Given the description of an element on the screen output the (x, y) to click on. 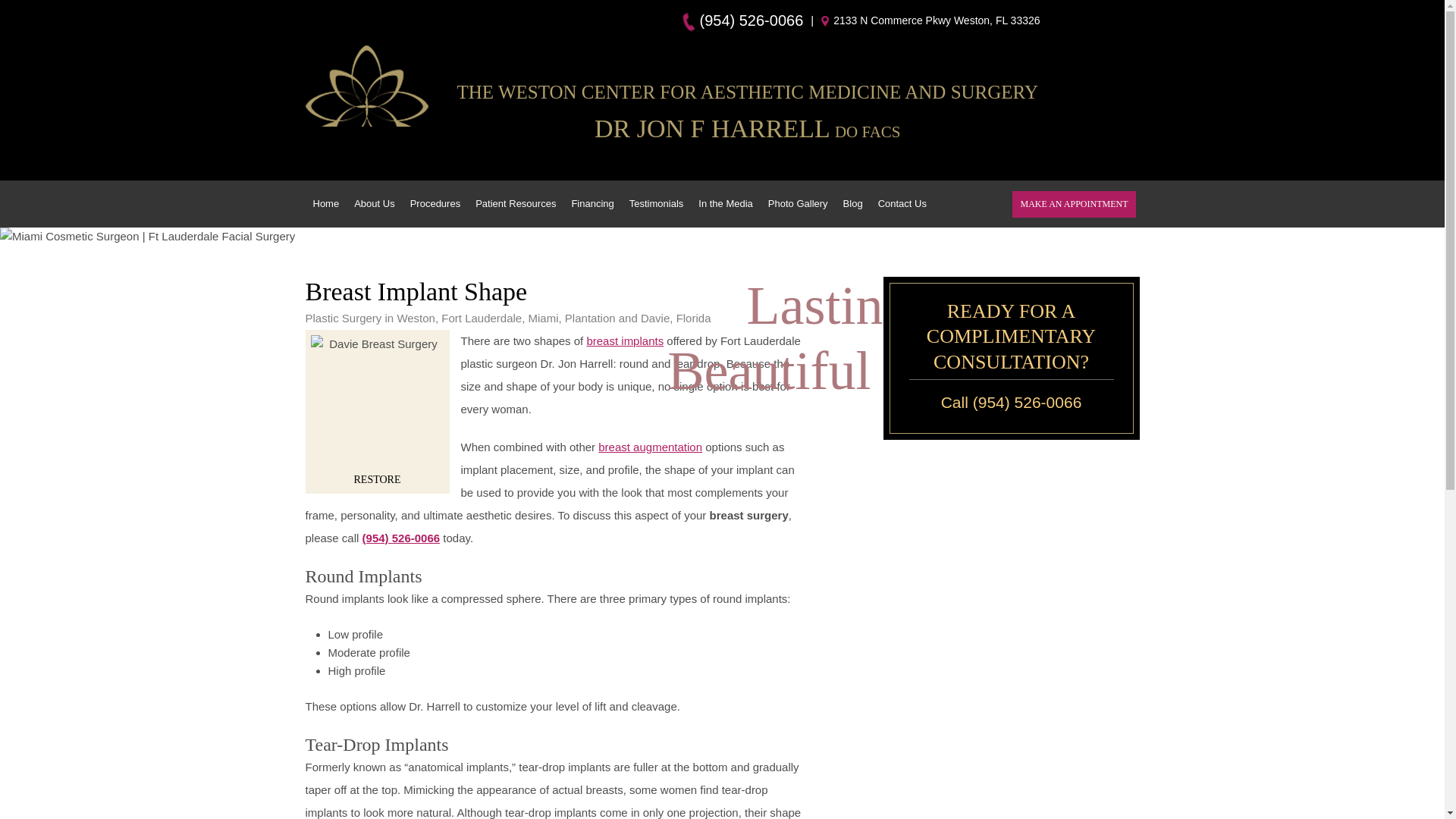
MAKE AN APPOINTMENT (1073, 203)
About Us (373, 203)
y (1108, 20)
g (1086, 20)
f (1064, 20)
Home (366, 101)
Procedures (435, 203)
